Given the description of an element on the screen output the (x, y) to click on. 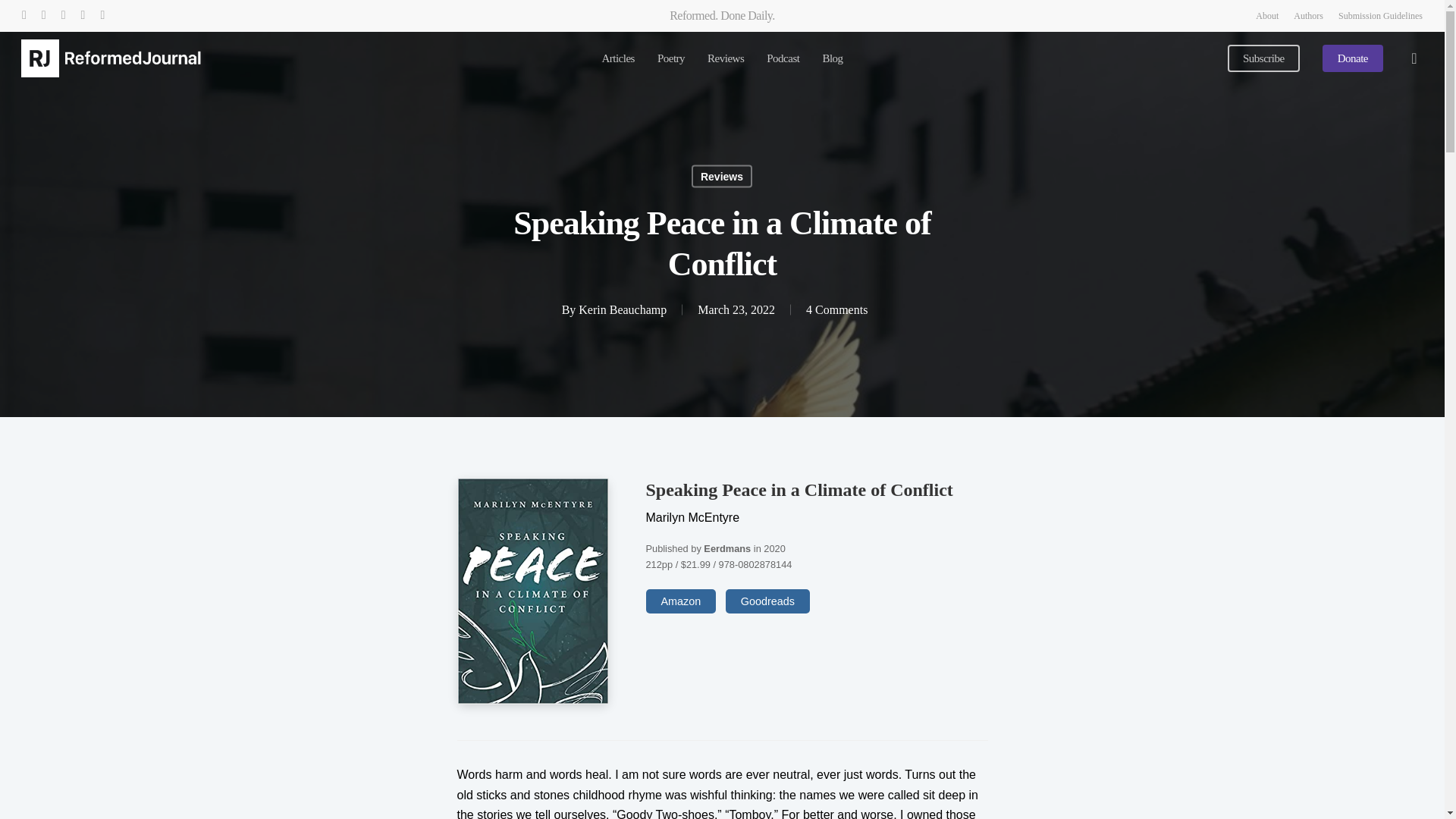
Amazon (681, 600)
Reviews (721, 176)
Authors (1308, 15)
Kerin Beauchamp (622, 309)
Posts by Kerin Beauchamp (622, 309)
Articles (617, 58)
About (1266, 15)
Donate (1352, 58)
Goodreads (767, 600)
Reviews (725, 58)
Submission Guidelines (1380, 15)
Subscribe (1263, 58)
Blog (832, 58)
search (1414, 57)
4 Comments (836, 309)
